Given the description of an element on the screen output the (x, y) to click on. 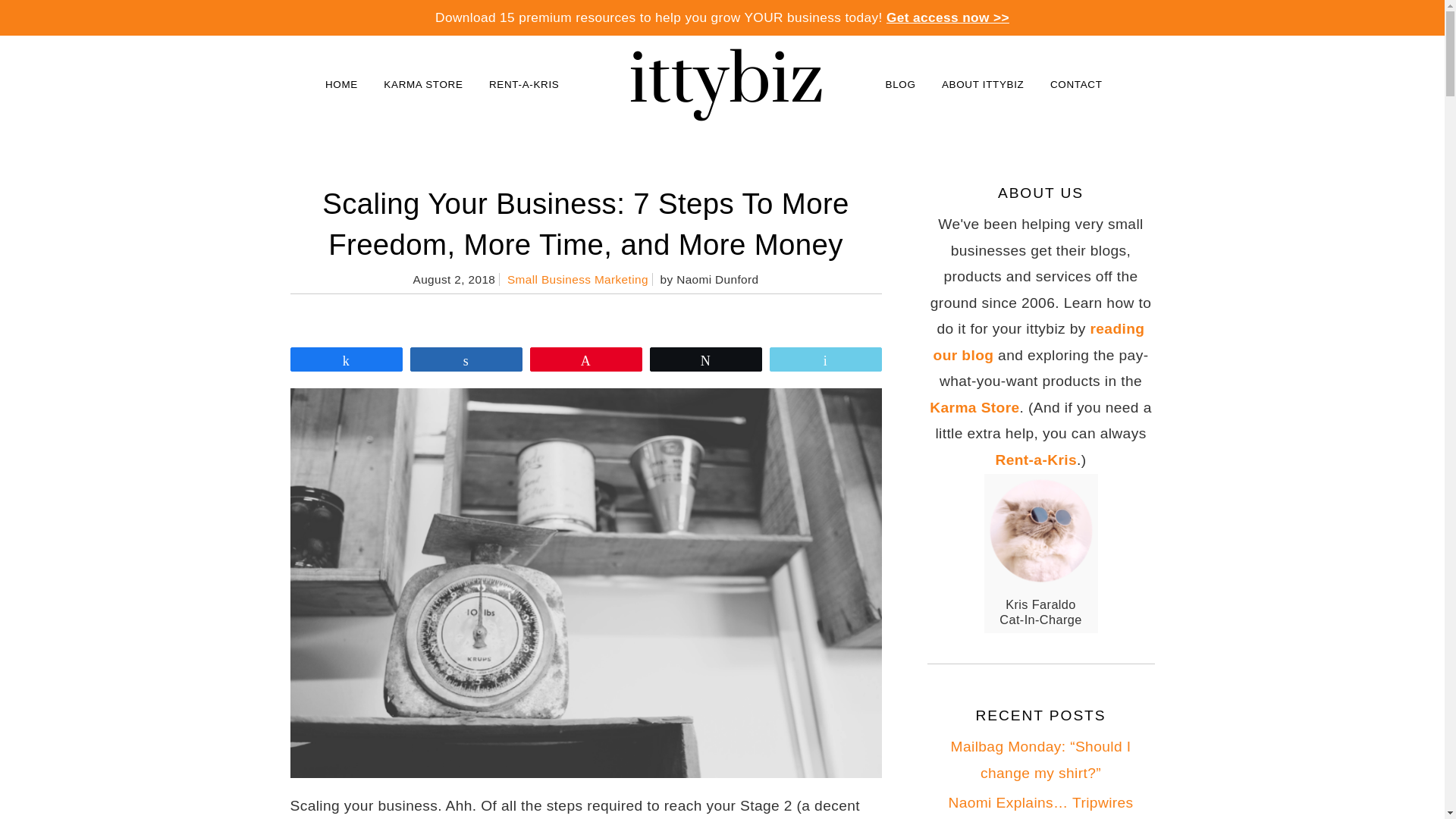
ABOUT ITTYBIZ (982, 83)
RENT-A-KRIS (523, 83)
KARMA STORE (423, 83)
HOME (341, 83)
IttyBiz (721, 84)
reading our blog (1038, 342)
Karma Store (974, 407)
Small Business Marketing (576, 278)
CONTACT (1076, 83)
BLOG (899, 83)
